Given the description of an element on the screen output the (x, y) to click on. 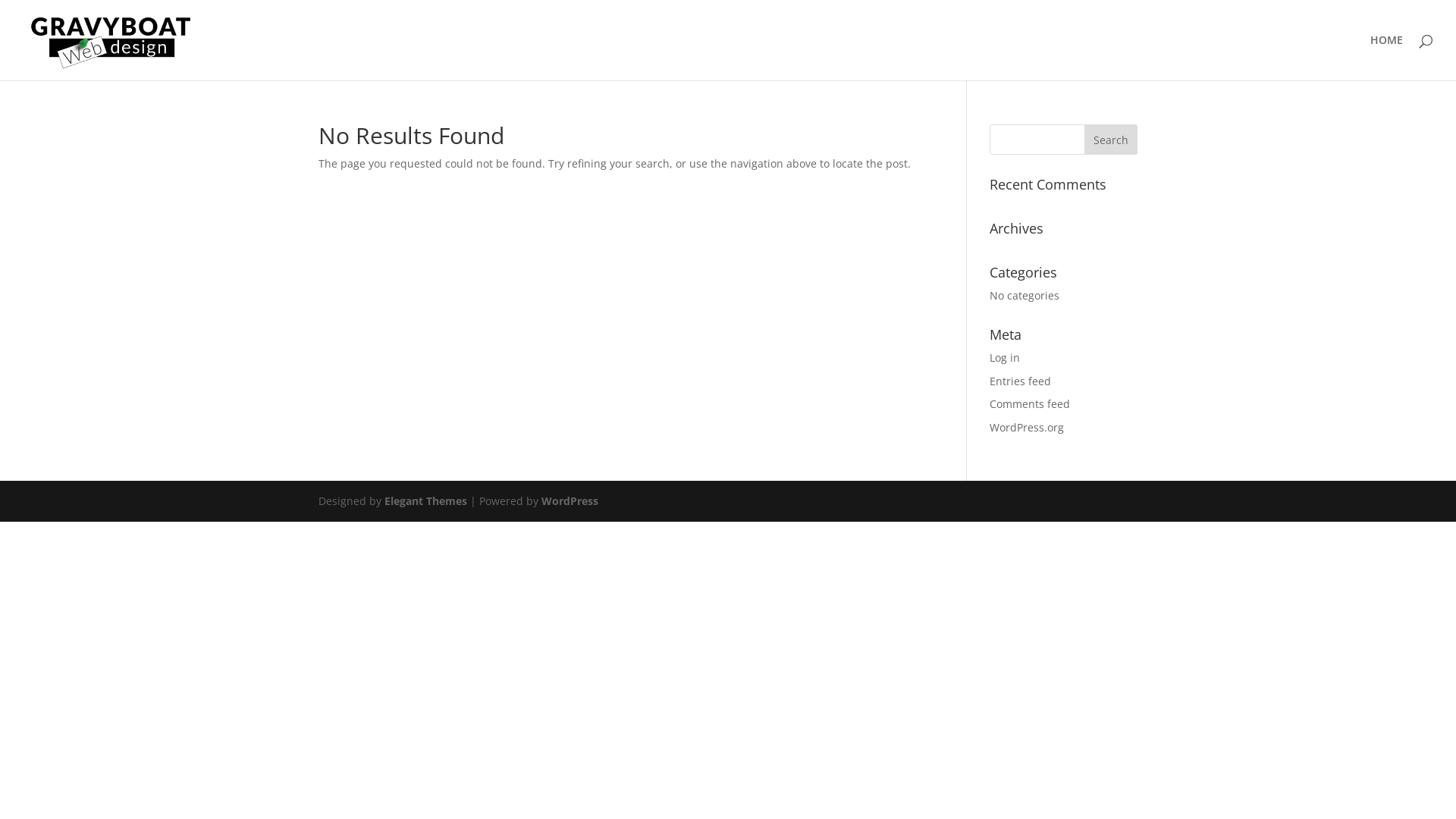
Elegant Themes Element type: text (425, 500)
Comments feed Element type: text (1029, 403)
WordPress Element type: text (569, 500)
HOME Element type: text (1386, 57)
Log in Element type: text (1004, 357)
Entries feed Element type: text (1020, 380)
WordPress.org Element type: text (1026, 427)
Search Element type: text (1110, 139)
